Given the description of an element on the screen output the (x, y) to click on. 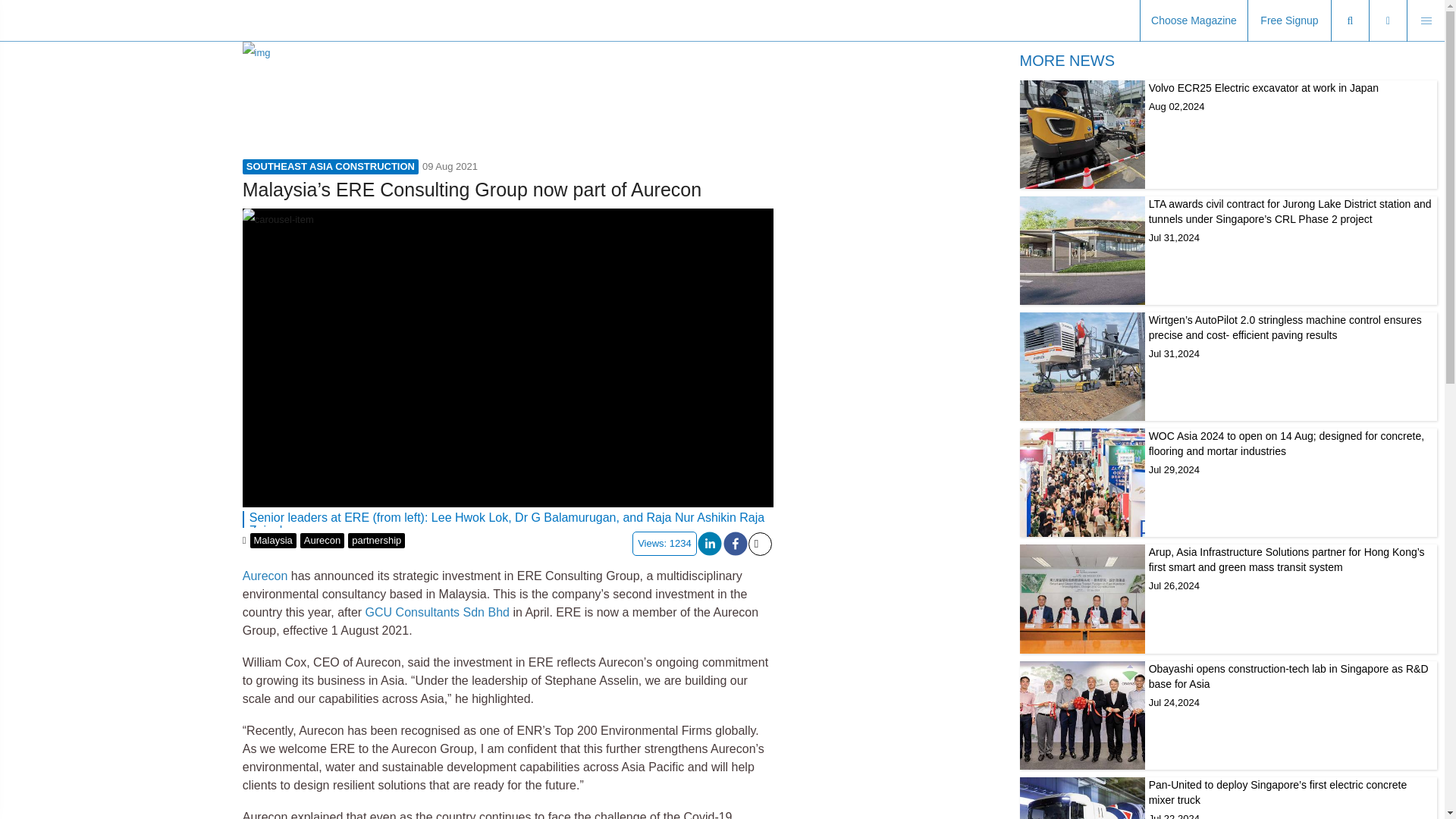
SOUTHEAST ASIA CONSTRUCTION (1228, 134)
Malaysia (331, 166)
partnership (273, 540)
Aurecon (375, 540)
Free Signup (265, 575)
Choose Magazine (1288, 20)
GCU Consultants Sdn Bhd (1193, 20)
Aurecon (437, 612)
